Given the description of an element on the screen output the (x, y) to click on. 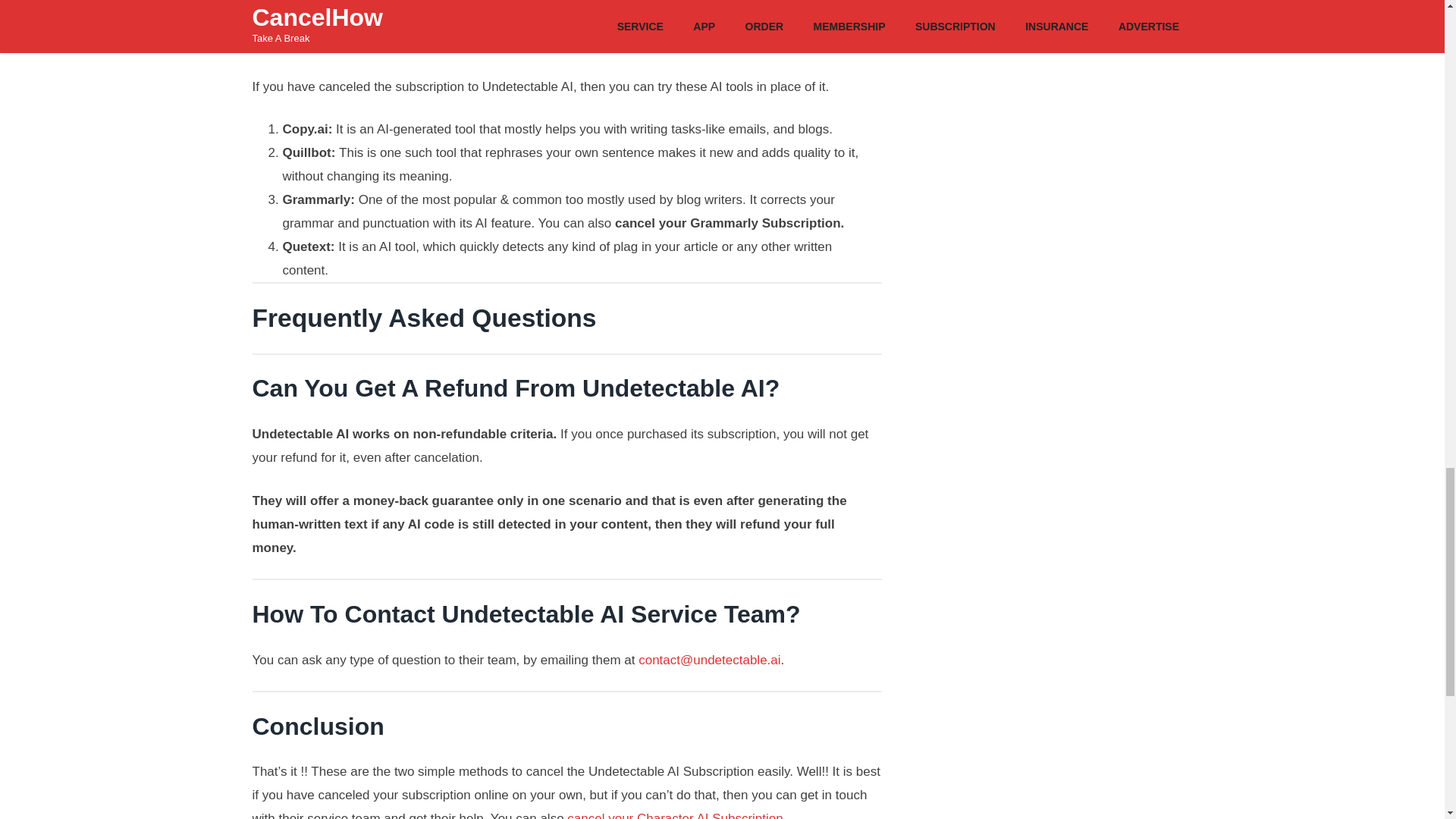
cancel your Character AI Subscription. (676, 815)
